Given the description of an element on the screen output the (x, y) to click on. 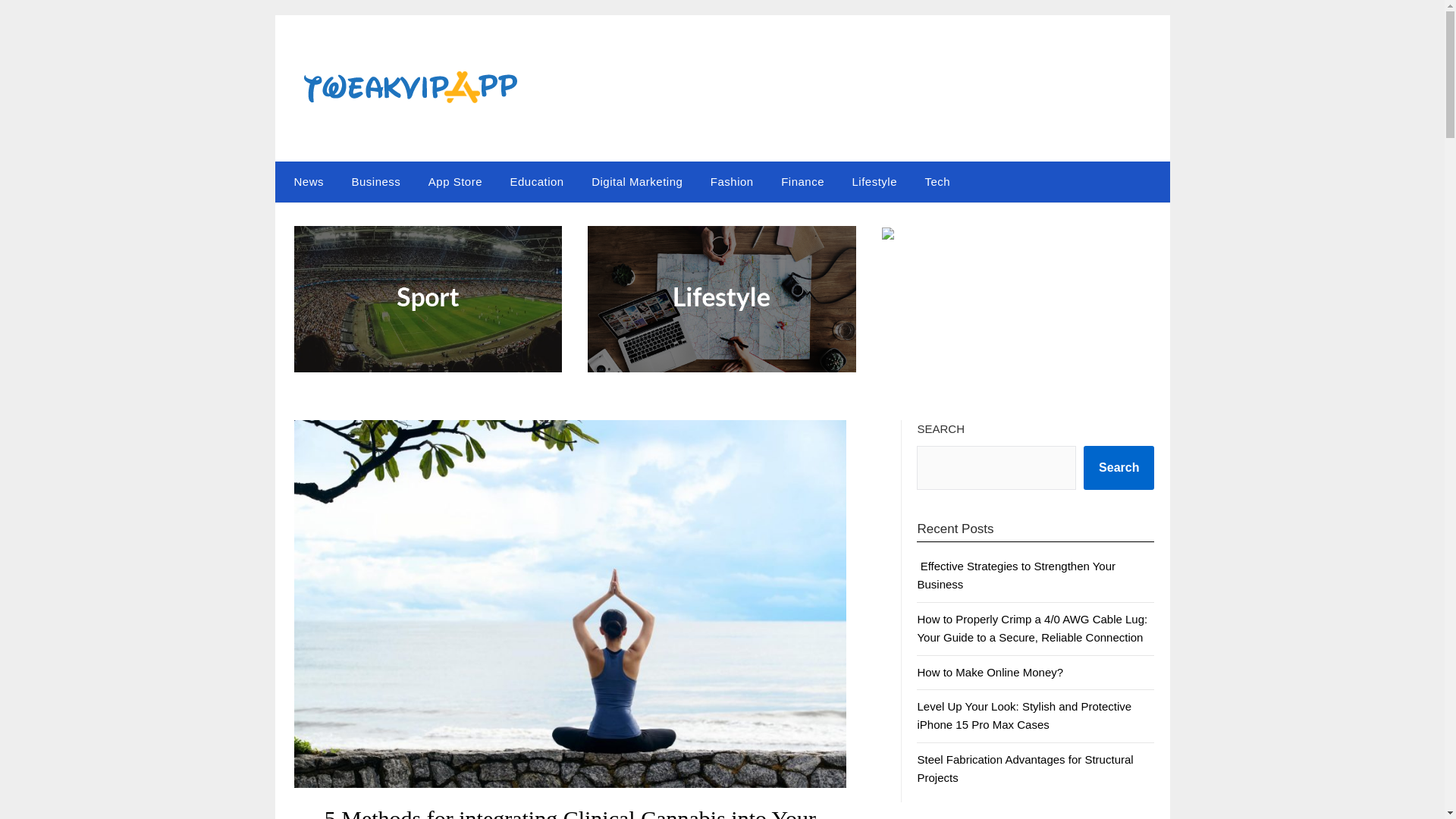
Fashion (731, 181)
Education (536, 181)
Lifestyle (874, 181)
Finance (801, 181)
Digital Marketing (636, 181)
News (305, 181)
Tech (937, 181)
Business (375, 181)
App Store (455, 181)
